Given the description of an element on the screen output the (x, y) to click on. 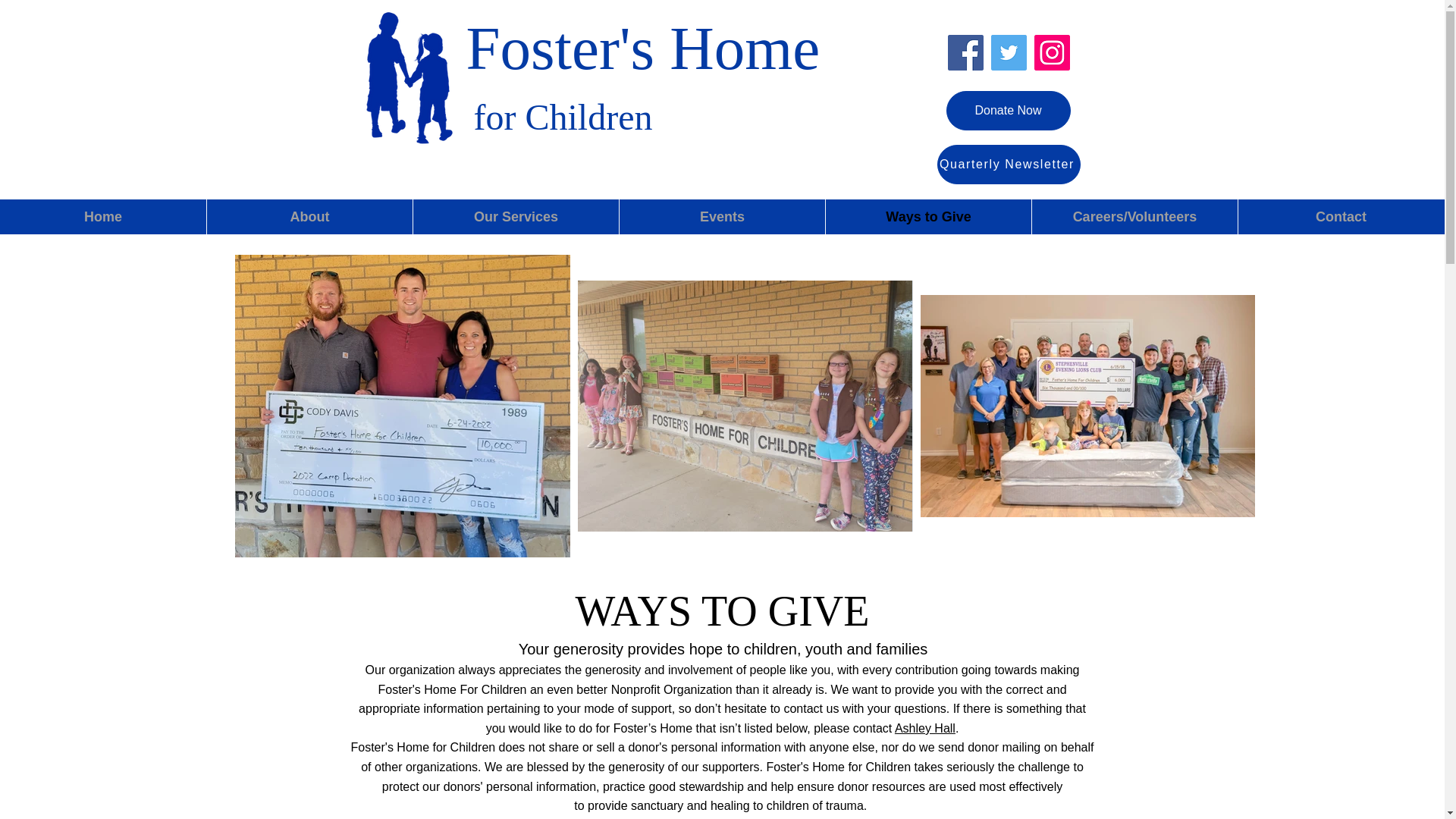
Home (103, 216)
About (309, 216)
Quarterly Newsletter (1008, 164)
Events (722, 216)
Ashley Hall (925, 727)
Ways to Give (927, 216)
Our Services (515, 216)
Contact (1341, 216)
Donate Now (1008, 110)
